Given the description of an element on the screen output the (x, y) to click on. 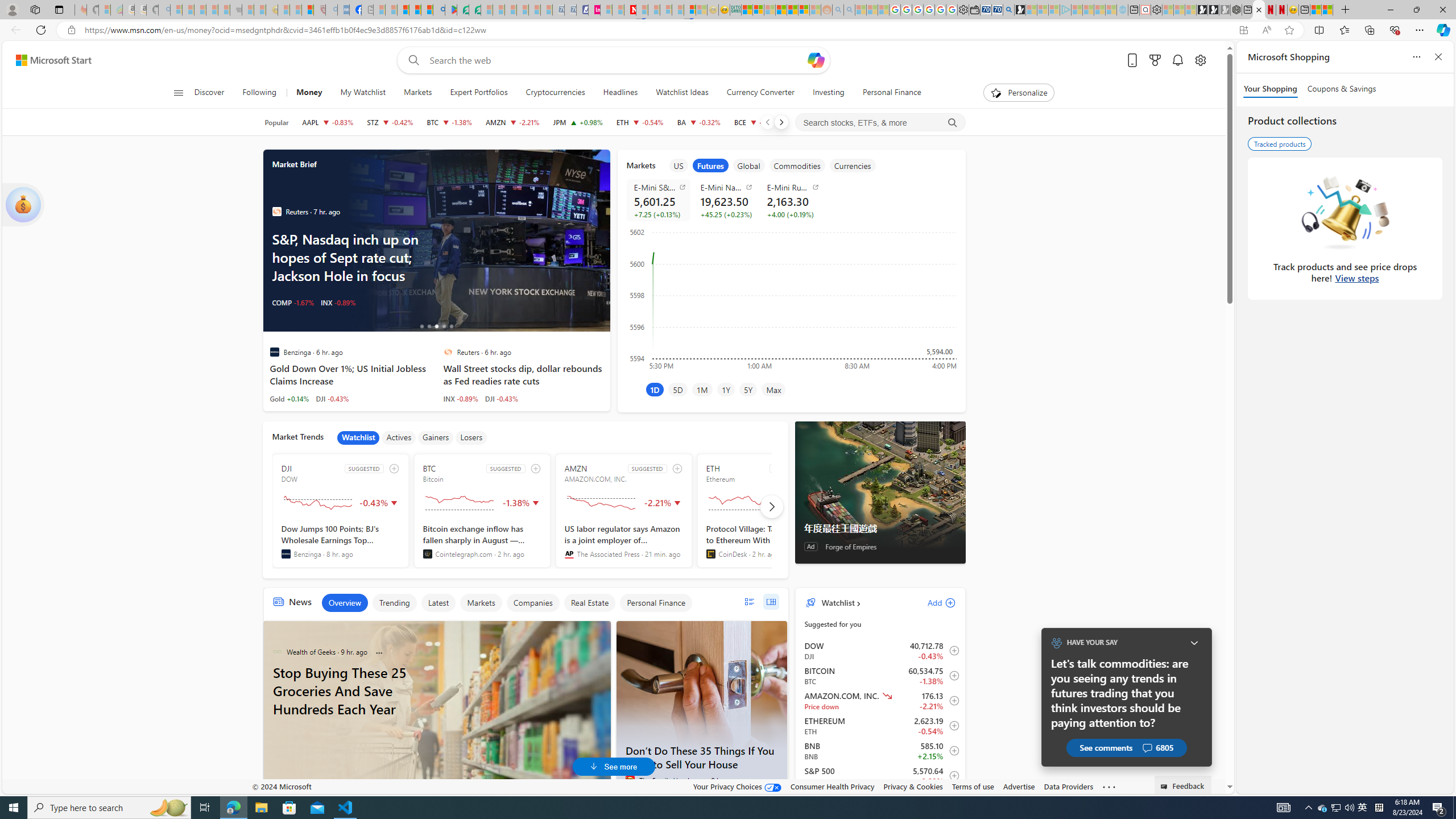
Terms of use (973, 786)
Personal Finance (887, 92)
ETH Ethereum decrease 2,623.19 -14.14 -0.54% item3 (880, 725)
Bluey: Let's Play! - Apps on Google Play (450, 9)
